Given the description of an element on the screen output the (x, y) to click on. 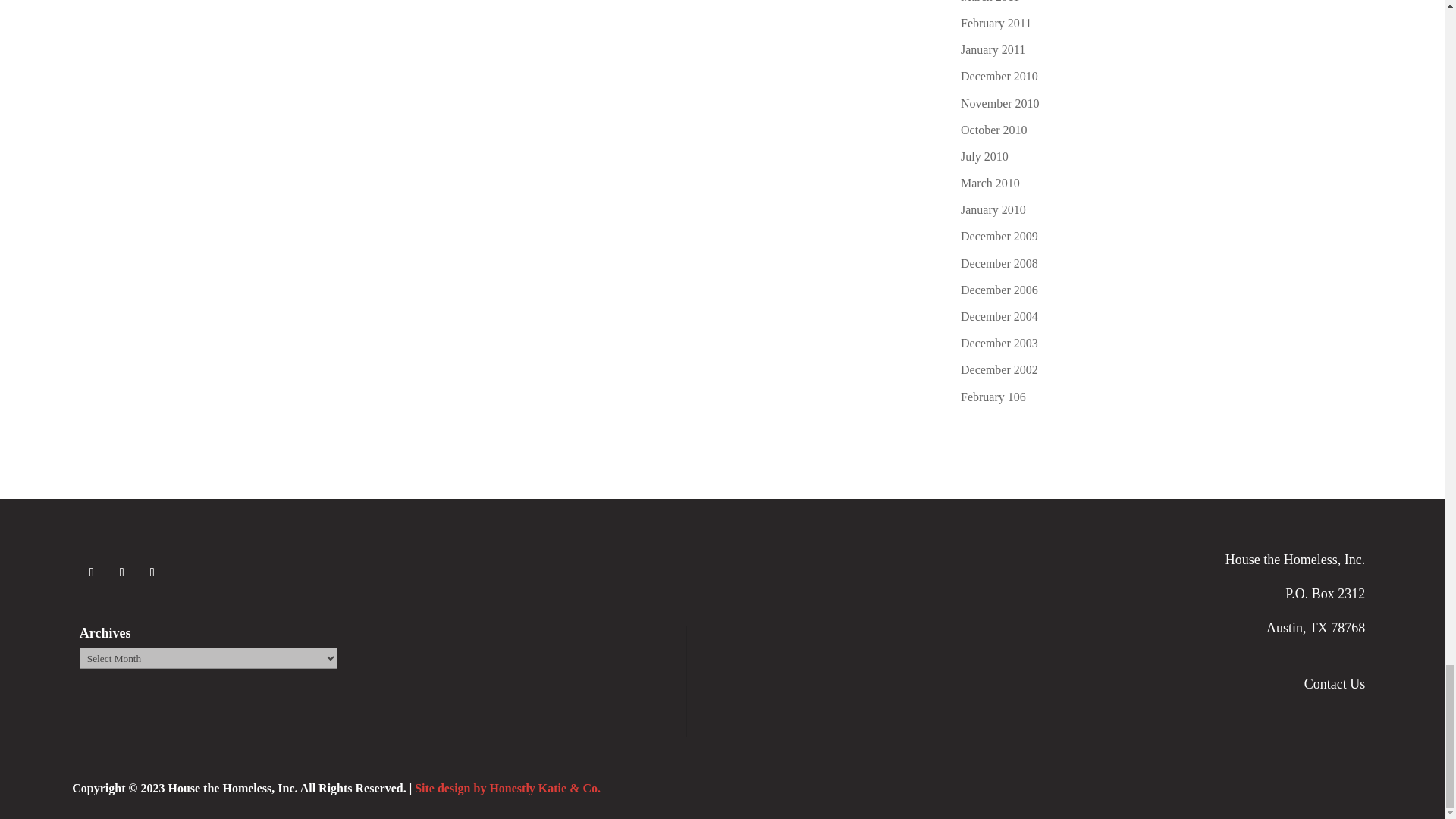
Follow on LinkedIn (151, 572)
Follow on Facebook (91, 572)
Follow on X (121, 572)
